Given the description of an element on the screen output the (x, y) to click on. 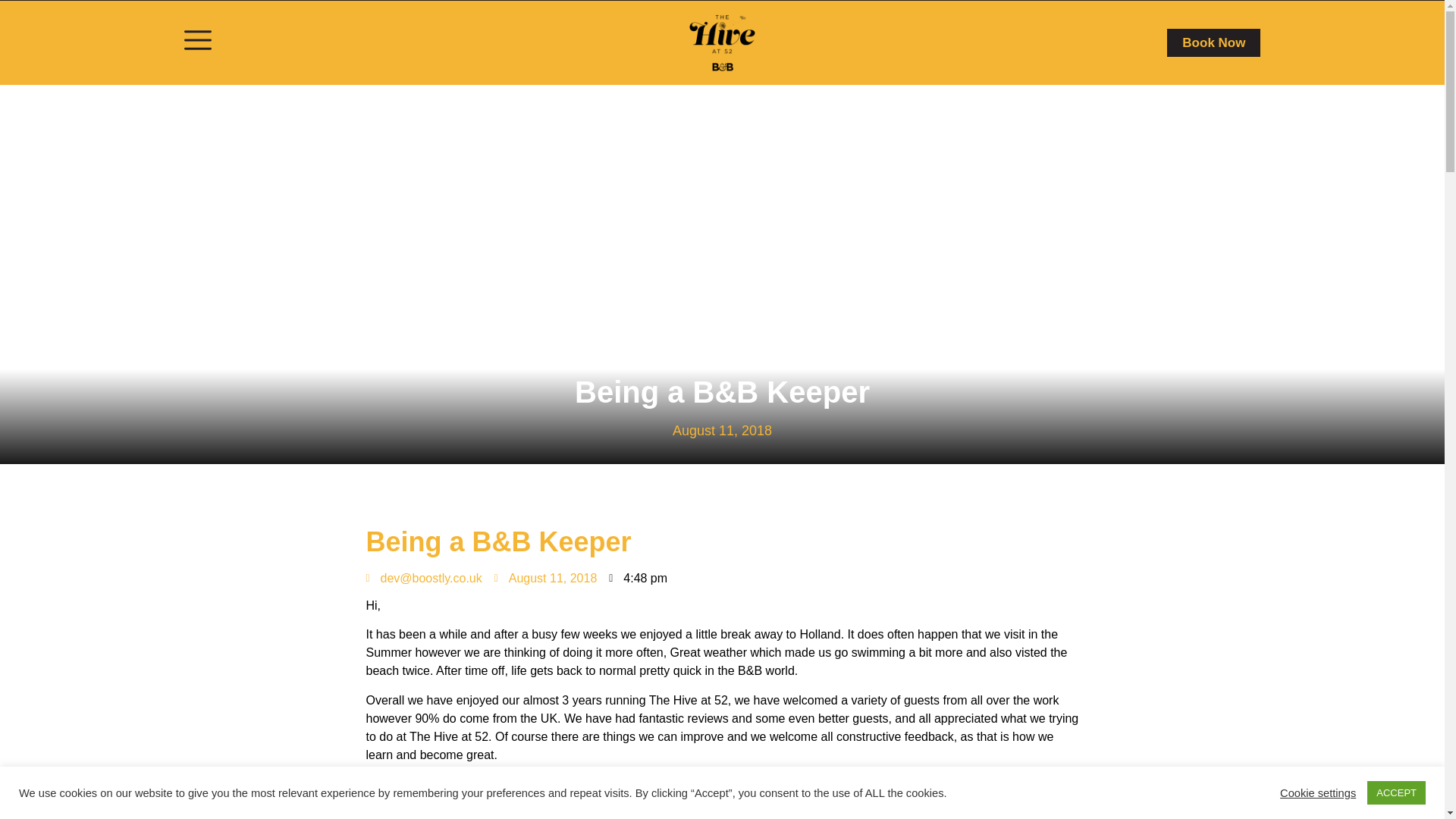
August 11, 2018 (545, 578)
Cookie settings (1317, 792)
Book Now (1213, 42)
ACCEPT (1396, 792)
